Given the description of an element on the screen output the (x, y) to click on. 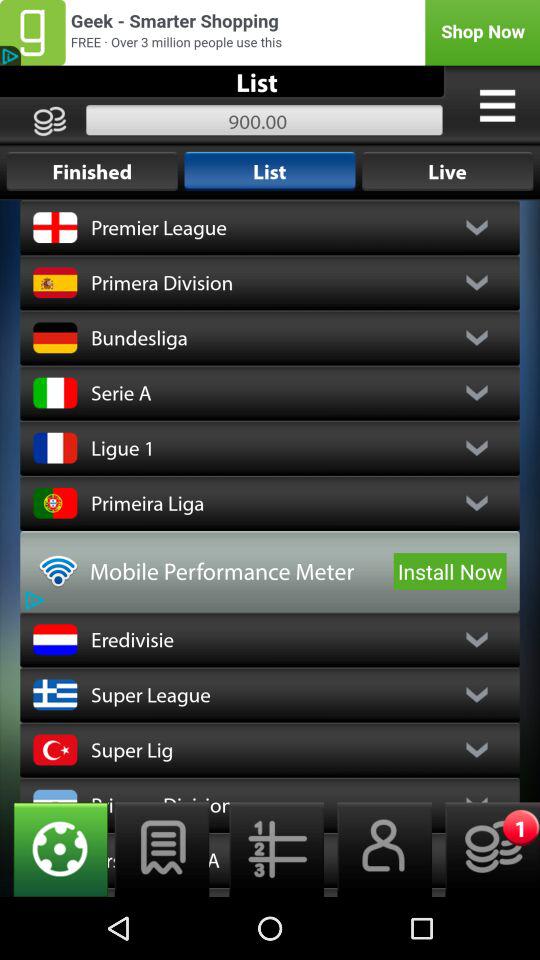
launch the item to the right of the mobile performance meter (449, 571)
